Given the description of an element on the screen output the (x, y) to click on. 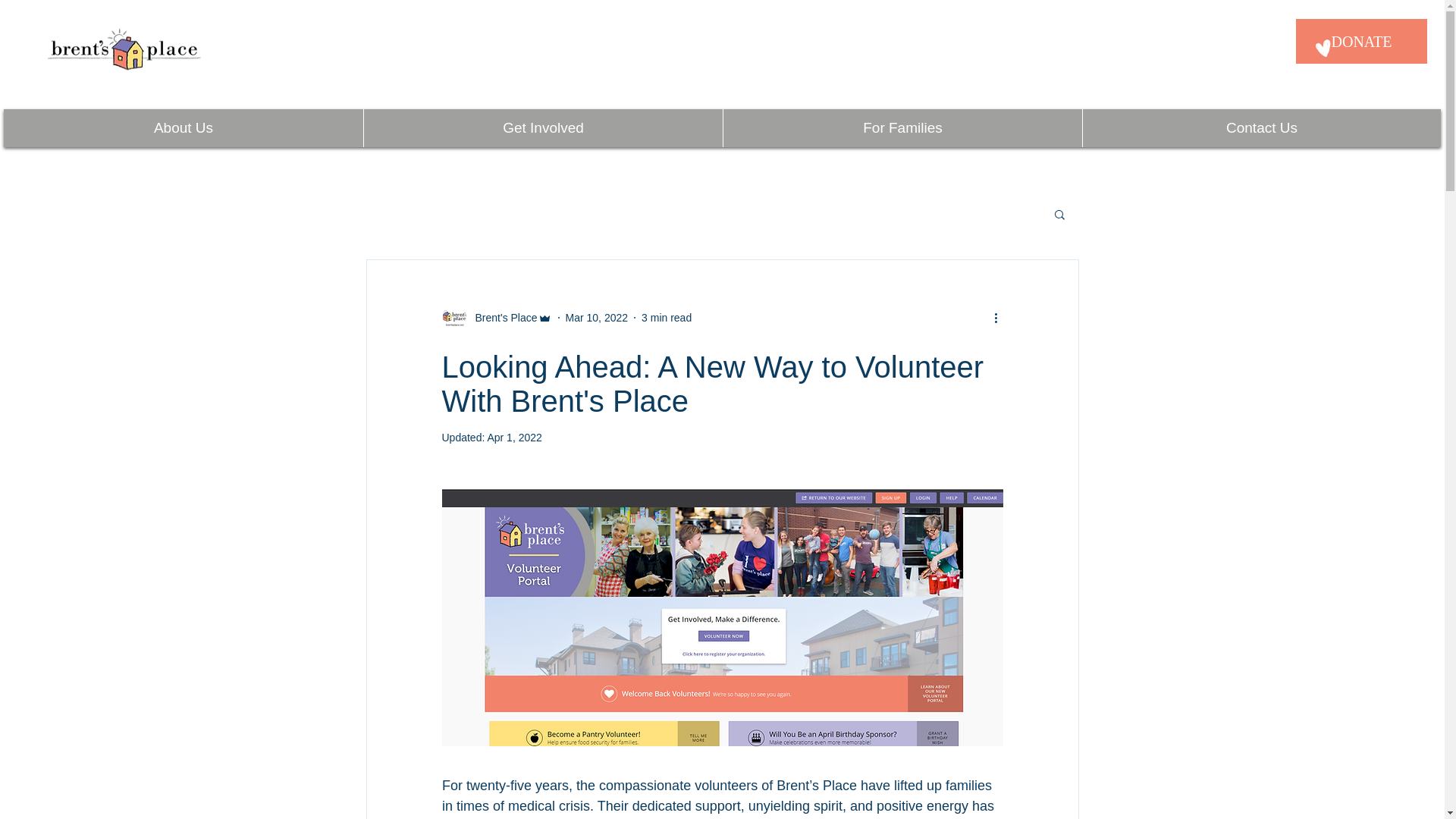
Get Involved (542, 127)
DONATE (1360, 40)
Brent's Place (501, 317)
Mar 10, 2022 (597, 316)
Apr 1, 2022 (513, 437)
Contact Us (1261, 127)
About Us (183, 127)
For Families (901, 127)
3 min read (666, 316)
